Given the description of an element on the screen output the (x, y) to click on. 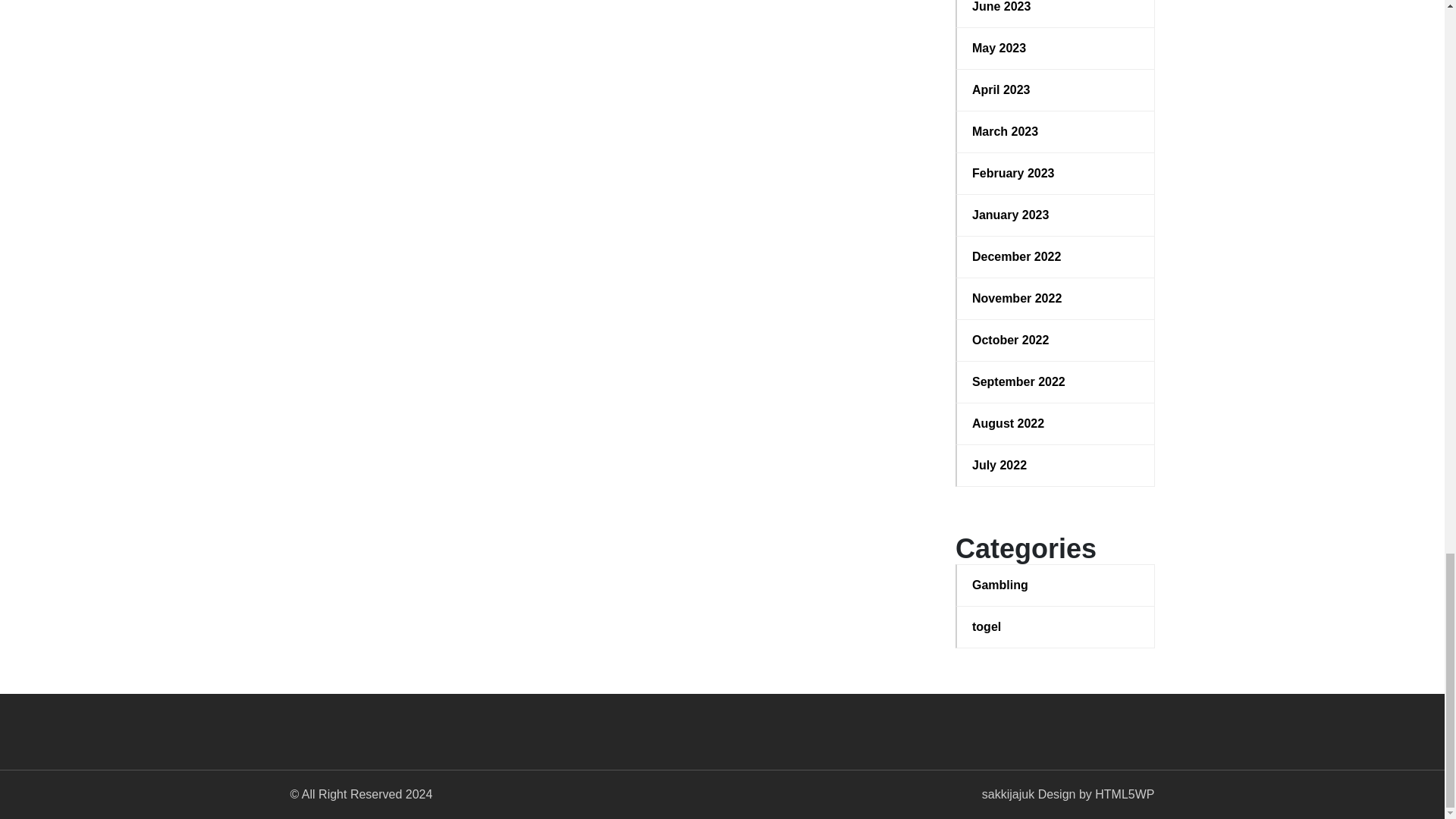
January 2023 (1055, 215)
November 2022 (1055, 298)
February 2023 (1055, 173)
May 2023 (1055, 48)
March 2023 (1055, 131)
December 2022 (1055, 257)
April 2023 (1055, 90)
June 2023 (1055, 7)
